Given the description of an element on the screen output the (x, y) to click on. 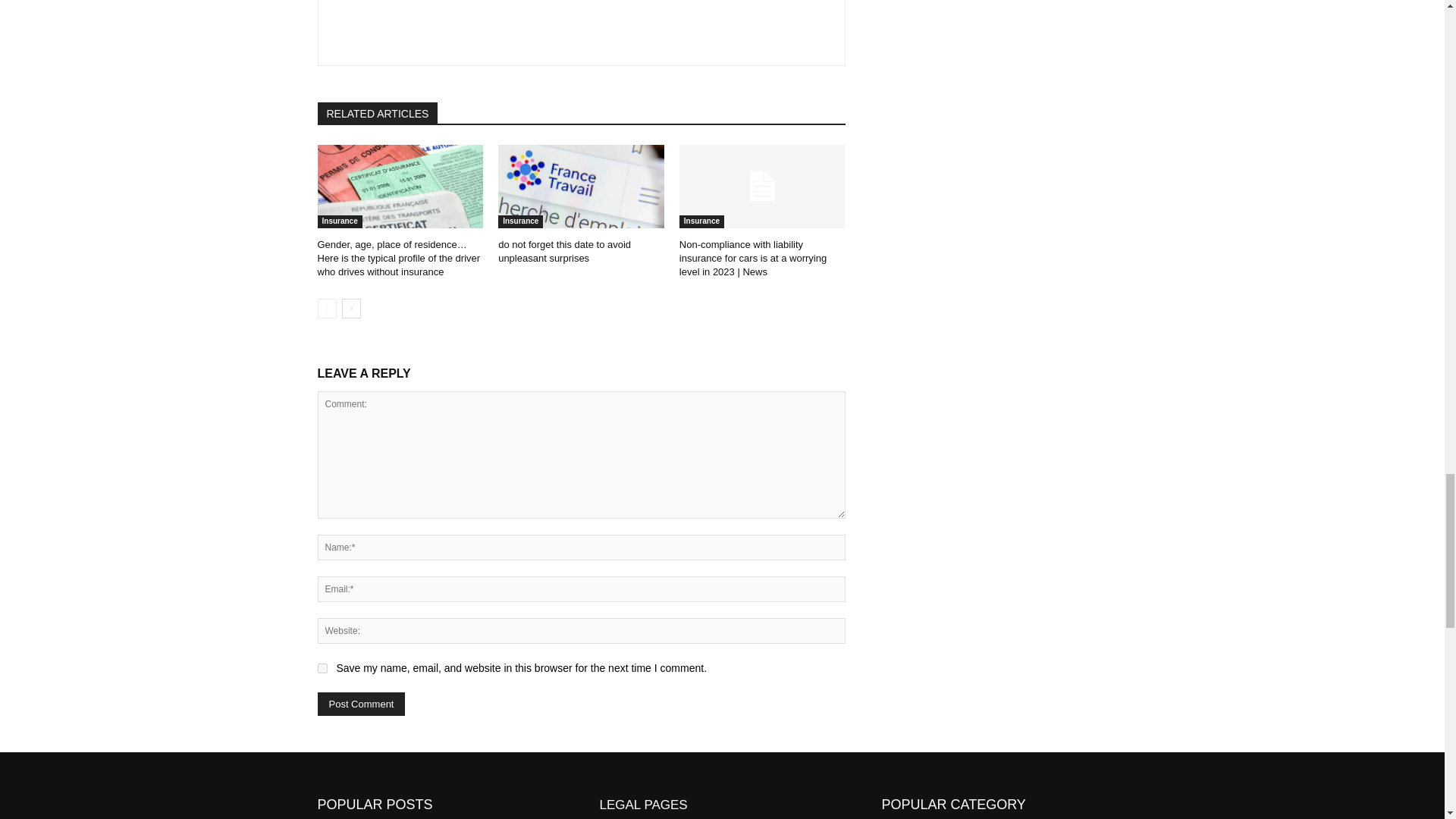
Post Comment (360, 703)
yes (321, 668)
